Given the description of an element on the screen output the (x, y) to click on. 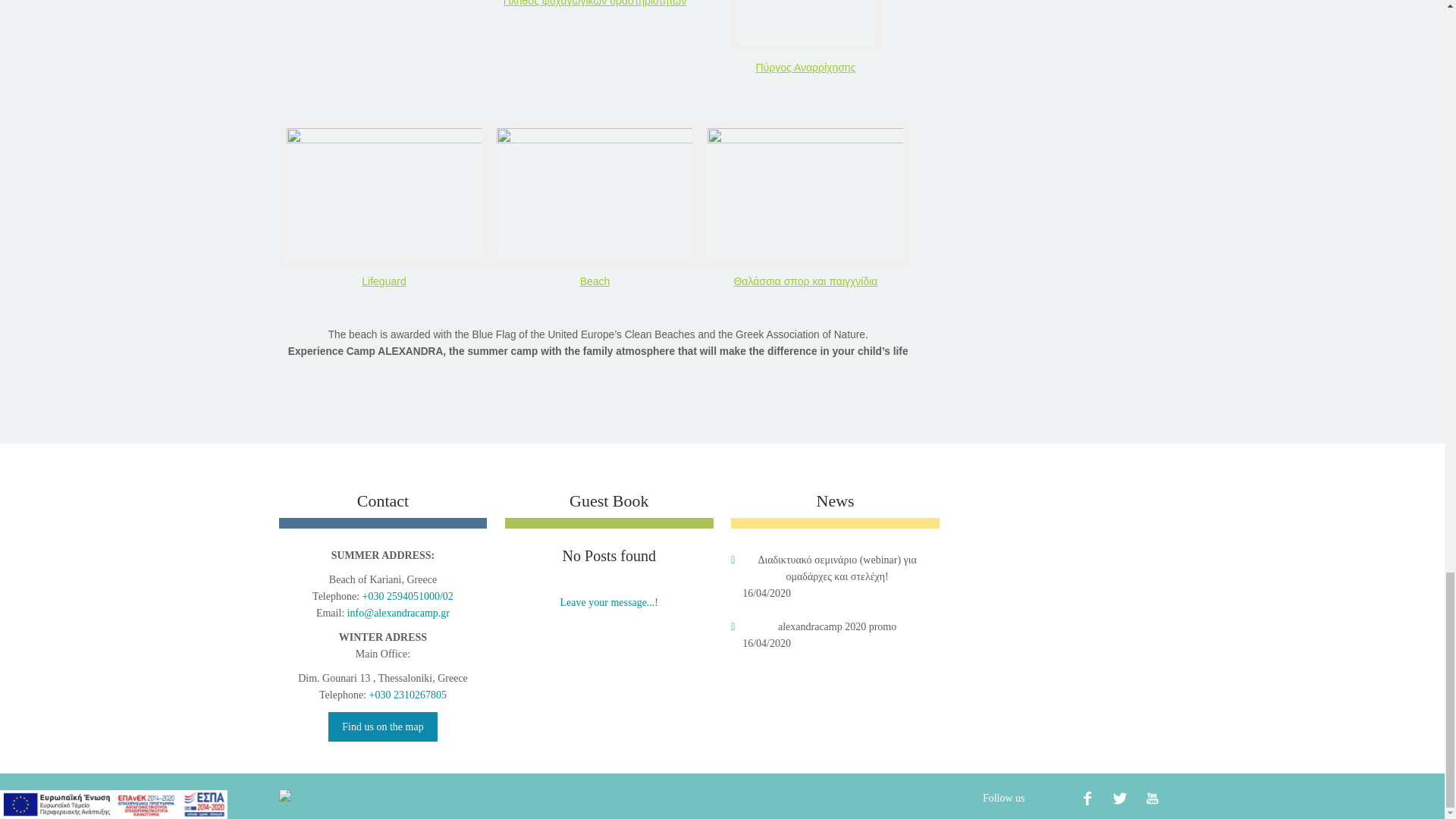
Facebook (1087, 797)
Twitter (1120, 797)
Youtube (1152, 797)
